Given the description of an element on the screen output the (x, y) to click on. 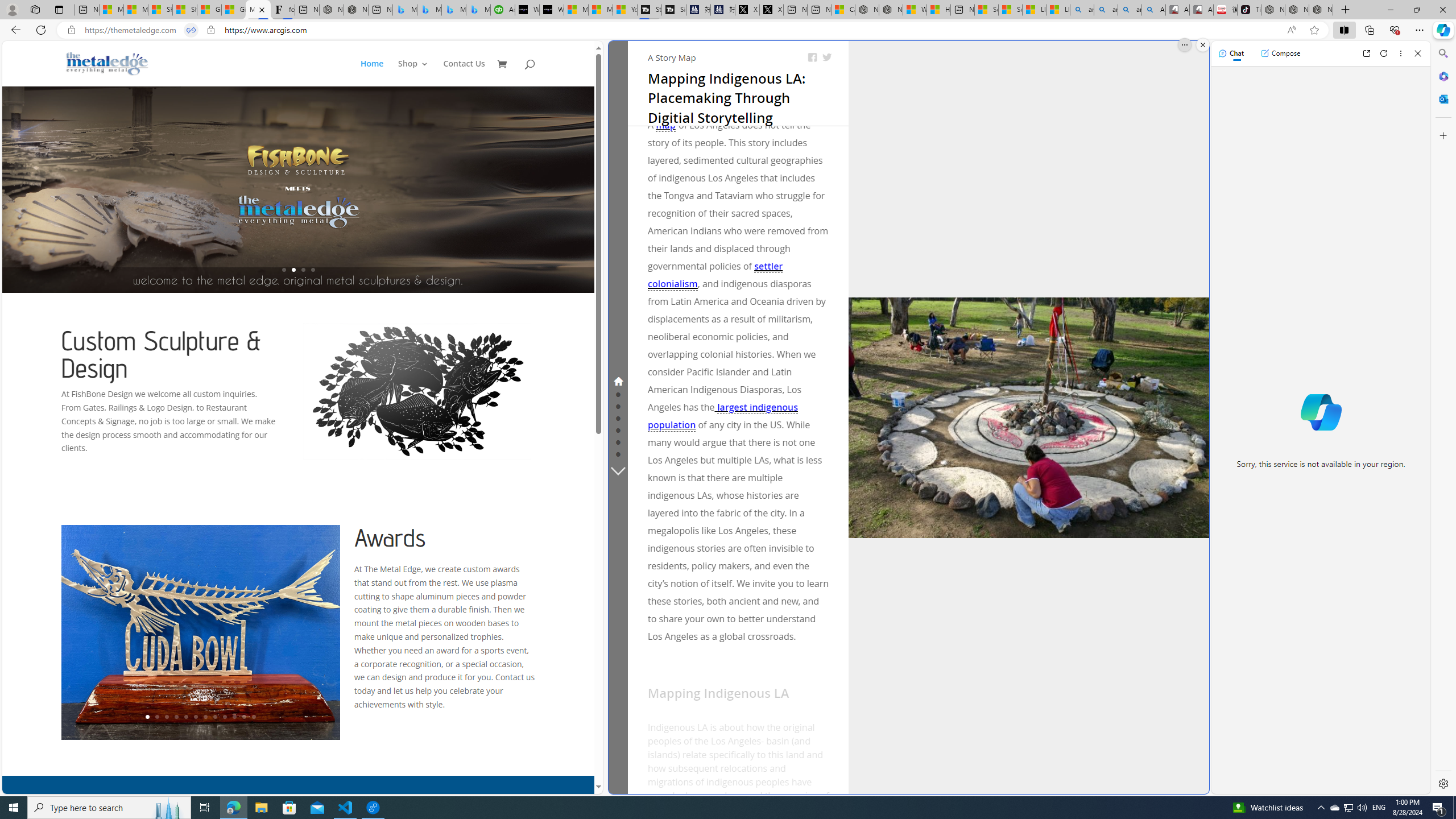
12 (253, 716)
Side bar (1443, 418)
Share on Facebook (812, 57)
1 (147, 716)
Go to section 4: Kuruvungna  (617, 417)
Amazon Echo Robot - Search Images (1153, 9)
10 (233, 716)
Customize (1442, 135)
largest indigenous population (722, 416)
